Given the description of an element on the screen output the (x, y) to click on. 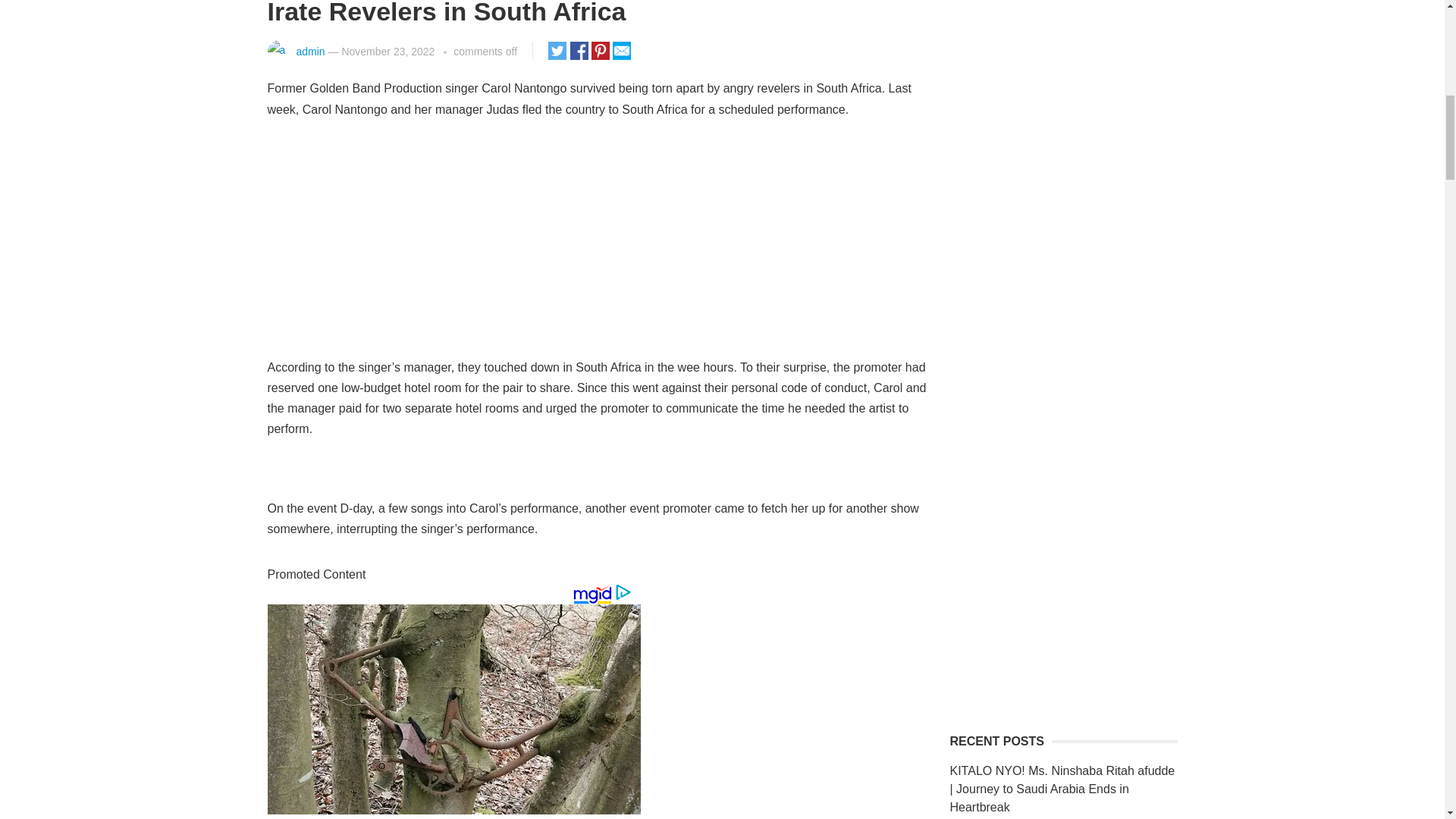
admin (309, 51)
Posts by admin (309, 51)
